Given the description of an element on the screen output the (x, y) to click on. 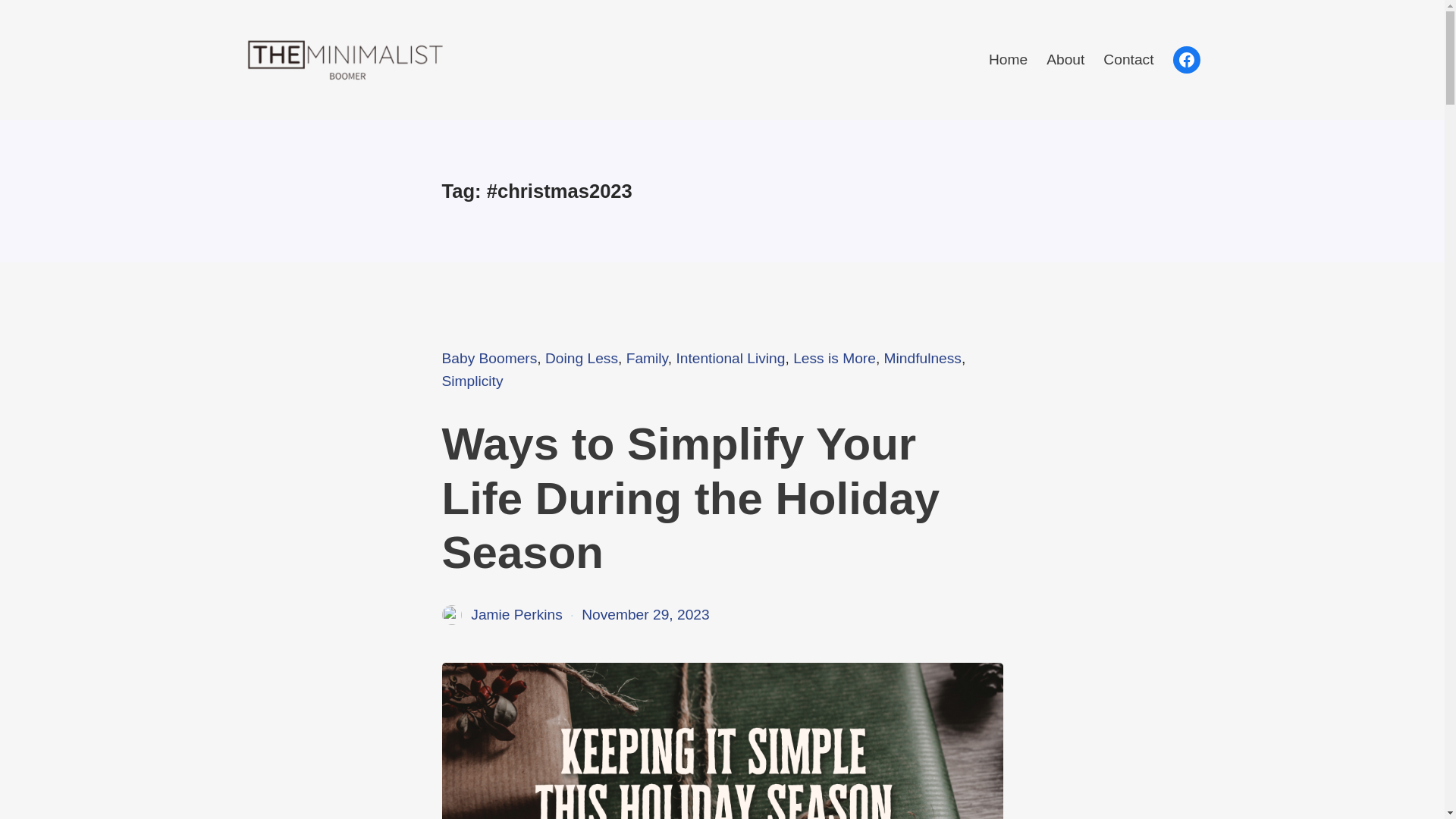
Contact (1128, 59)
About (1065, 59)
Simplicity (471, 381)
Mindfulness (921, 358)
Facebook (1185, 59)
Home (1007, 59)
Baby Boomers (489, 358)
Ways to Simplify Your Life During the Holiday Season (722, 497)
Less is More (834, 358)
Family (647, 358)
Doing Less (580, 358)
Intentional Living (729, 358)
